Given the description of an element on the screen output the (x, y) to click on. 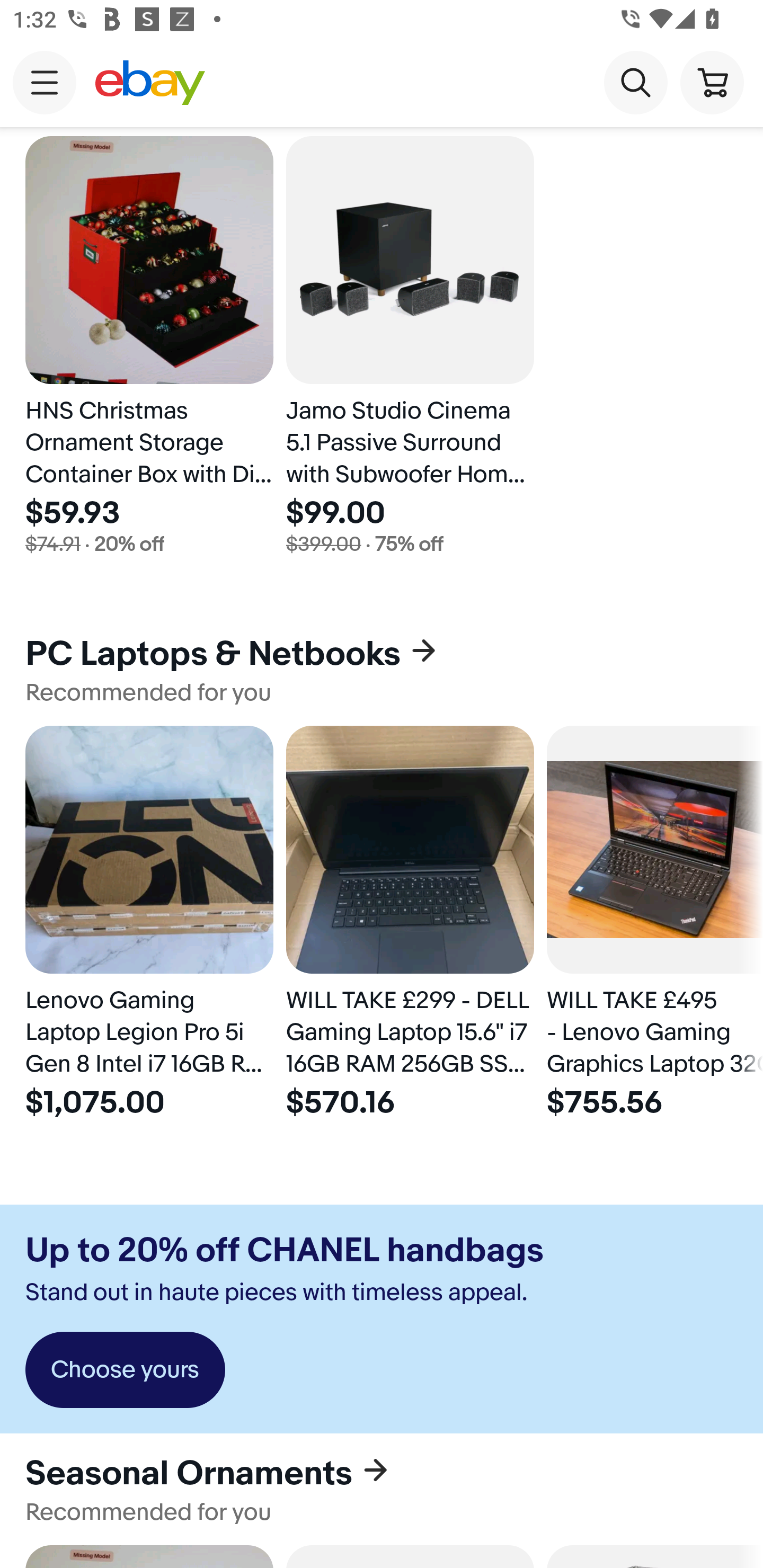
Main navigation, open (44, 82)
Search (635, 81)
Cart button shopping cart (711, 81)
PC Laptops & Netbooks   Recommended for you (381, 669)
Up to 20% off CHANEL handbags (284, 1250)
Choose yours (125, 1369)
Seasonal Ornaments   Recommended for you (381, 1488)
